Given the description of an element on the screen output the (x, y) to click on. 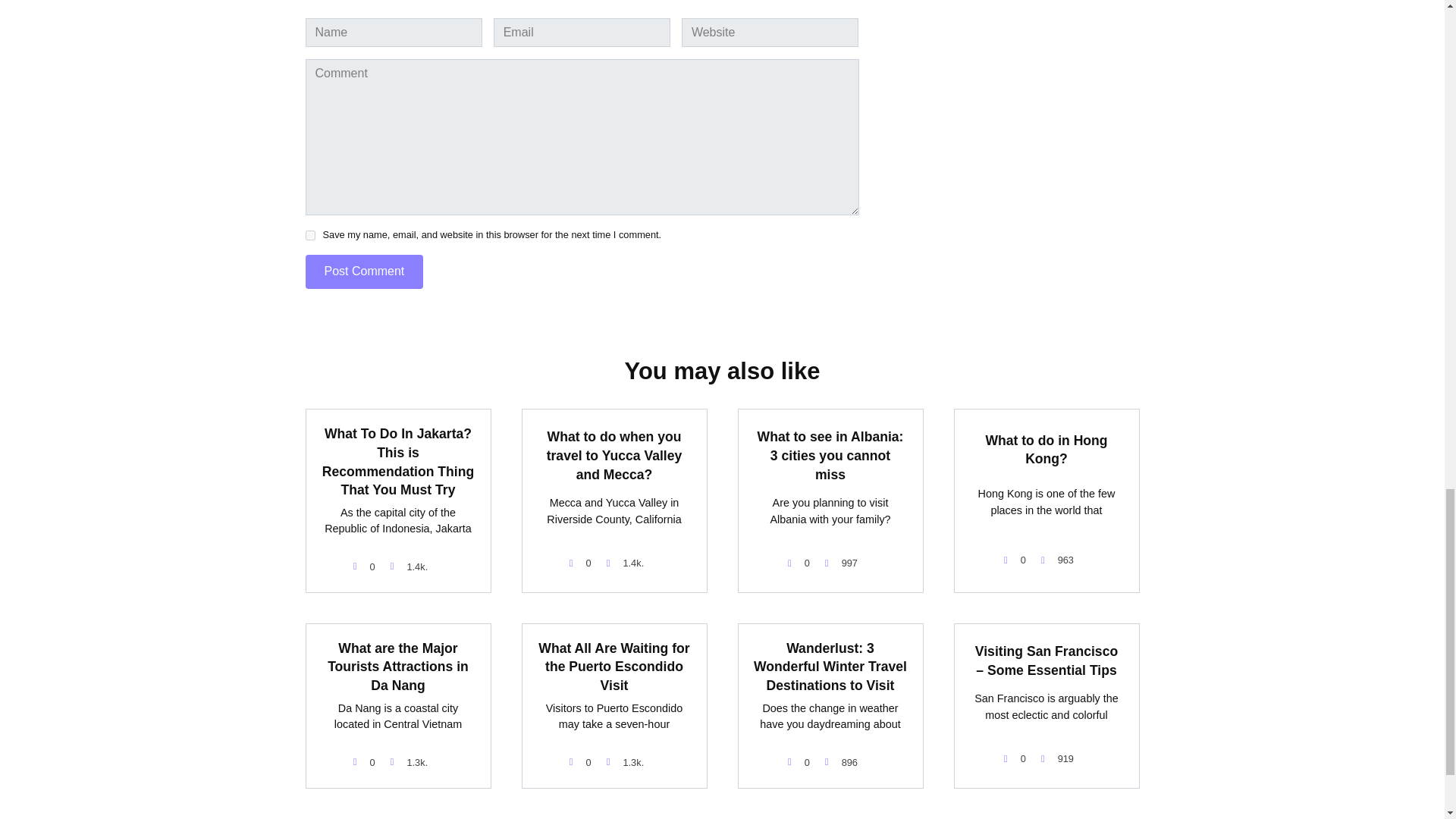
Wanderlust: 3 Wonderful Winter Travel Destinations to Visit (830, 666)
What to do in Hong Kong? (1045, 448)
yes (309, 235)
What to see in Albania: 3 cities you cannot miss (830, 455)
What are the Major Tourists Attractions in Da Nang (397, 666)
Post Comment (363, 271)
What All Are Waiting for the Puerto Escondido Visit (613, 666)
What to do when you travel to Yucca Valley and Mecca? (614, 455)
Post Comment (363, 271)
